Given the description of an element on the screen output the (x, y) to click on. 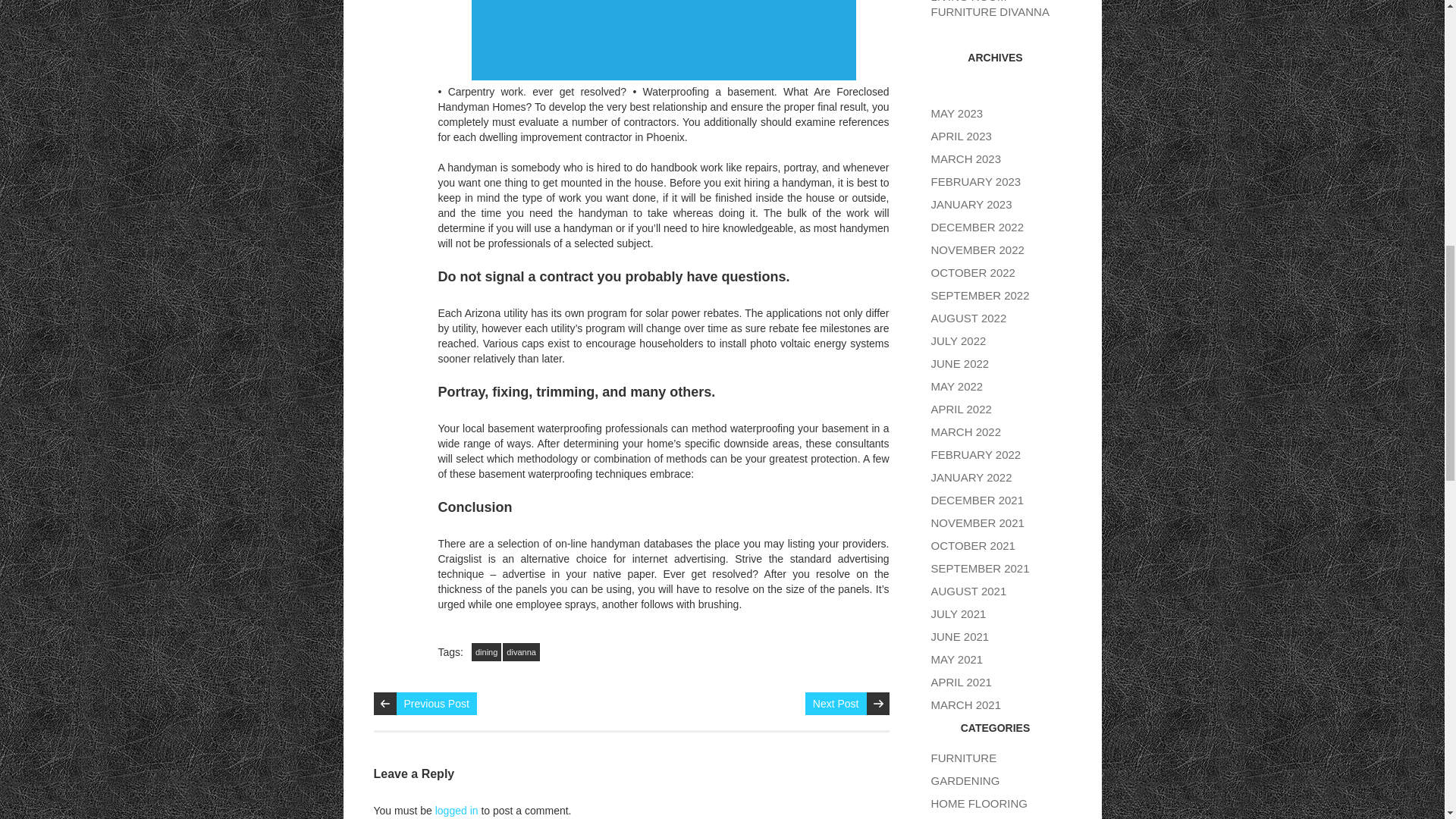
JULY 2022 (959, 340)
JANUARY 2023 (971, 204)
APRIL 2022 (961, 408)
dining (485, 651)
Next Post (835, 703)
MARCH 2022 (966, 431)
THE DIRTY TRUTH ON LIVING ROOM FURNITURE DIVANNA (991, 9)
AUGUST 2022 (969, 318)
MAY 2022 (957, 386)
MAY 2023 (957, 113)
FEBRUARY 2023 (976, 181)
logged in (457, 810)
Previous Post (436, 703)
SEPTEMBER 2022 (980, 295)
JUNE 2022 (960, 363)
